Given the description of an element on the screen output the (x, y) to click on. 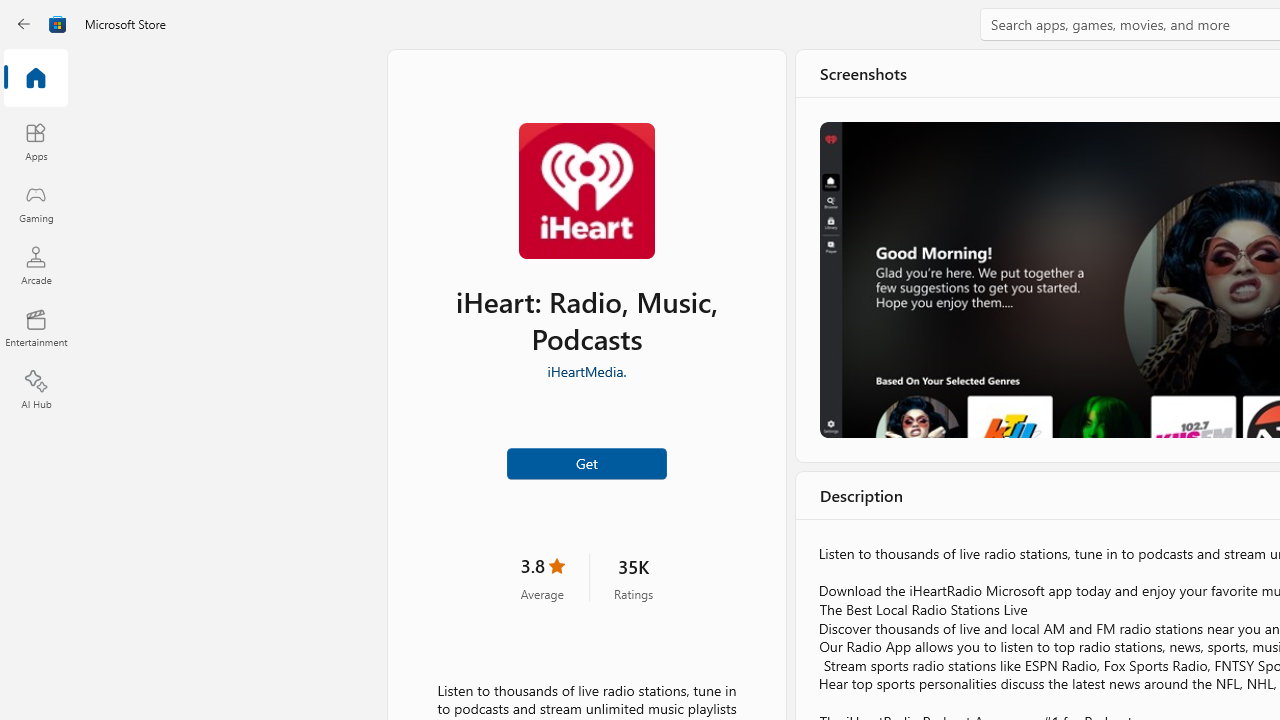
AI Hub (35, 390)
Gaming (35, 203)
Back (24, 24)
Home (35, 79)
Arcade (35, 265)
Entertainment (35, 327)
iHeartMedia. (585, 369)
Apps (35, 141)
3.8 stars. Click to skip to ratings and reviews (542, 576)
Get (586, 462)
Class: Image (58, 24)
